Given the description of an element on the screen output the (x, y) to click on. 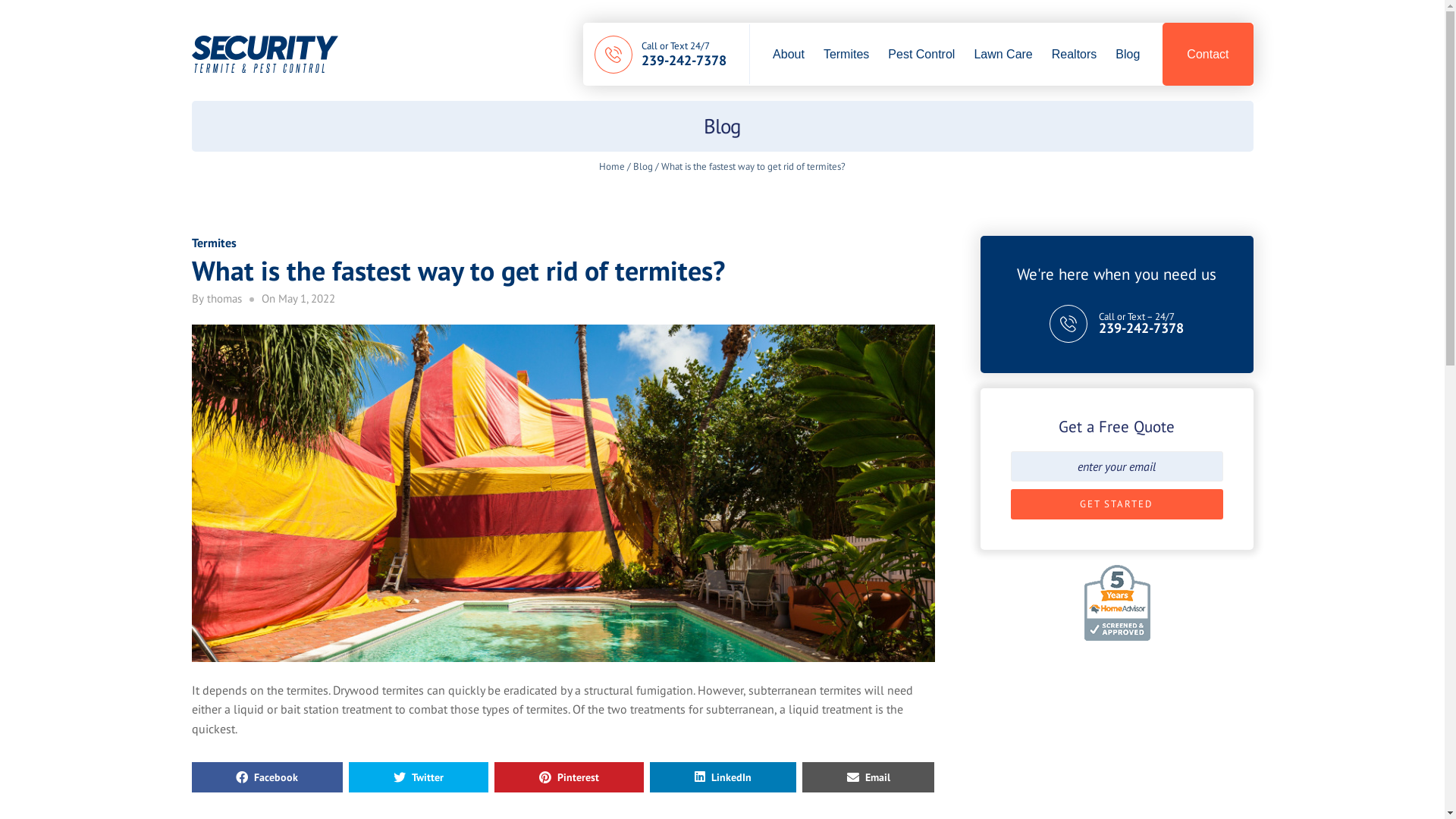
GET STARTED Element type: text (1116, 504)
Pest Control Element type: text (921, 54)
Realtors Element type: text (1074, 54)
Blog Element type: text (642, 166)
thomas Element type: text (223, 298)
Termites Element type: text (213, 242)
Lawn Care Element type: text (1002, 54)
Email Element type: text (868, 777)
Termites Element type: text (846, 54)
Contact Element type: text (1207, 53)
Facebook Element type: text (266, 777)
LinkedIn Element type: text (722, 777)
Pinterest Element type: text (568, 777)
Twitter Element type: text (418, 777)
Call or Text 24/7
239-242-7378 Element type: text (683, 53)
Home Element type: text (611, 166)
Blog Element type: text (1127, 54)
About Element type: text (788, 54)
